Given the description of an element on the screen output the (x, y) to click on. 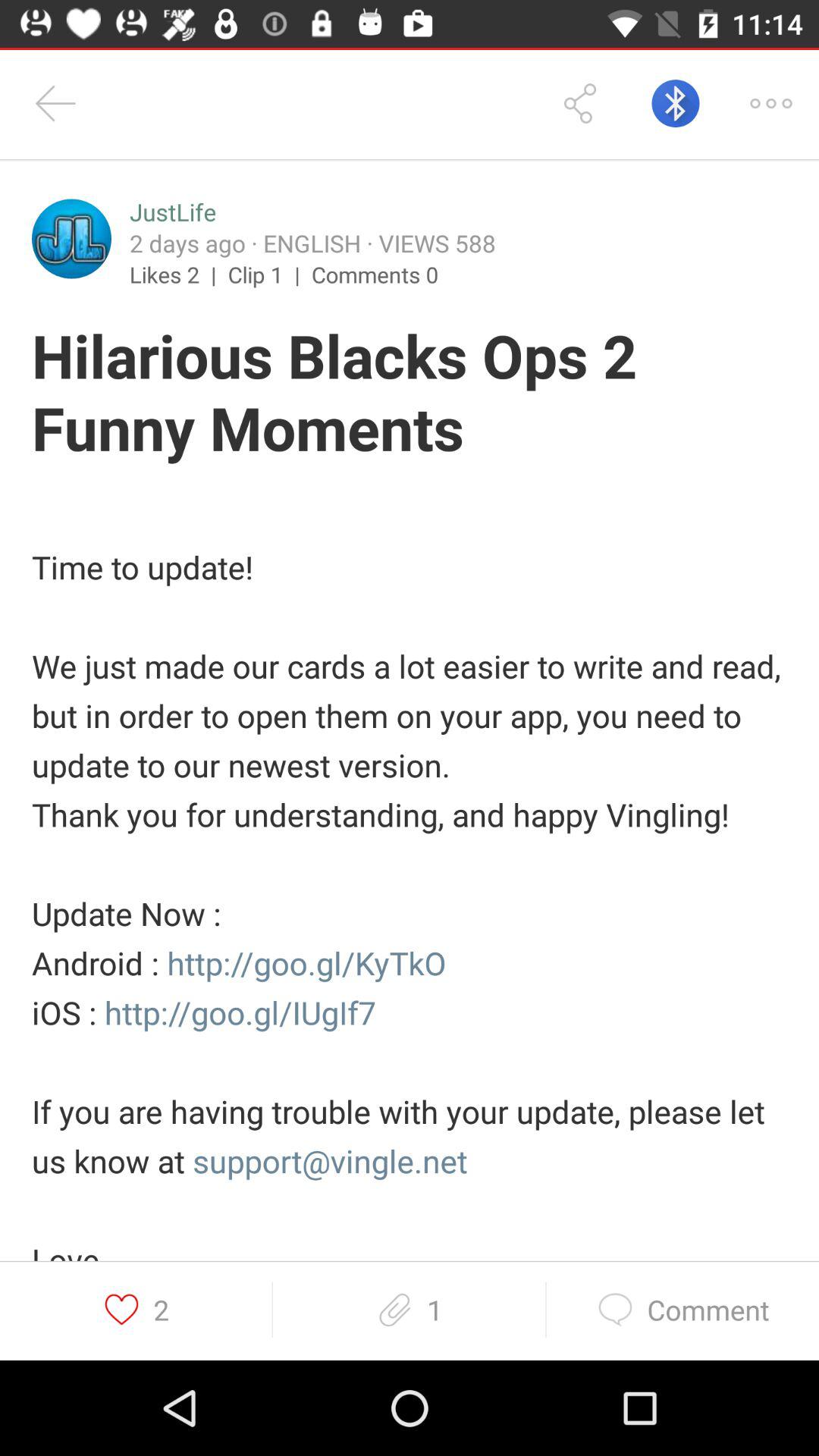
flip until justlife (172, 212)
